Given the description of an element on the screen output the (x, y) to click on. 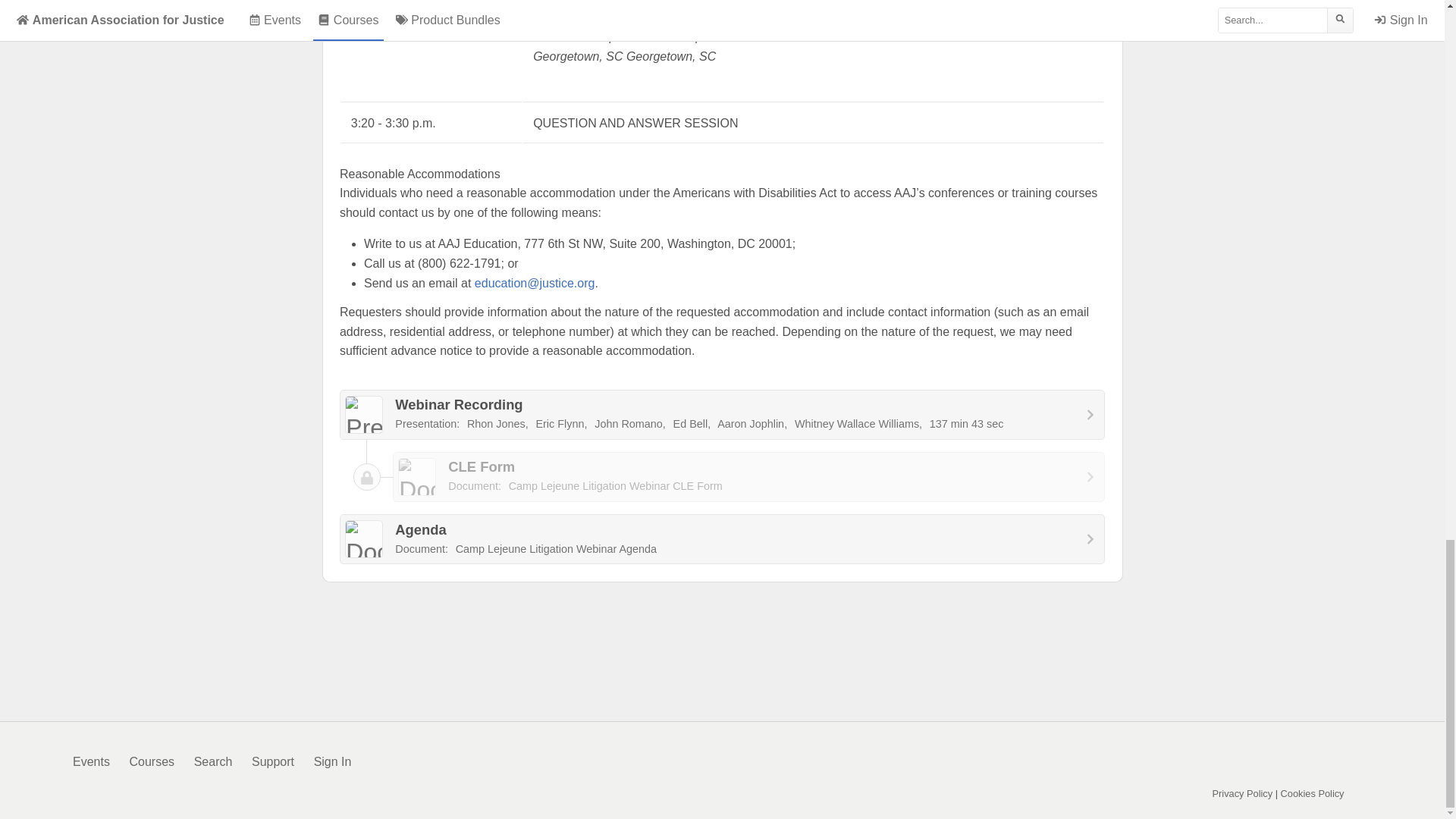
Courses (151, 761)
Agenda (722, 539)
Events (91, 761)
Support (272, 761)
Sign In (722, 539)
Privacy Policy (333, 761)
Cookies Policy (1243, 793)
Support (1312, 793)
Search (272, 761)
Courses (212, 761)
Search (749, 477)
Webinar Recording (151, 761)
